Given the description of an element on the screen output the (x, y) to click on. 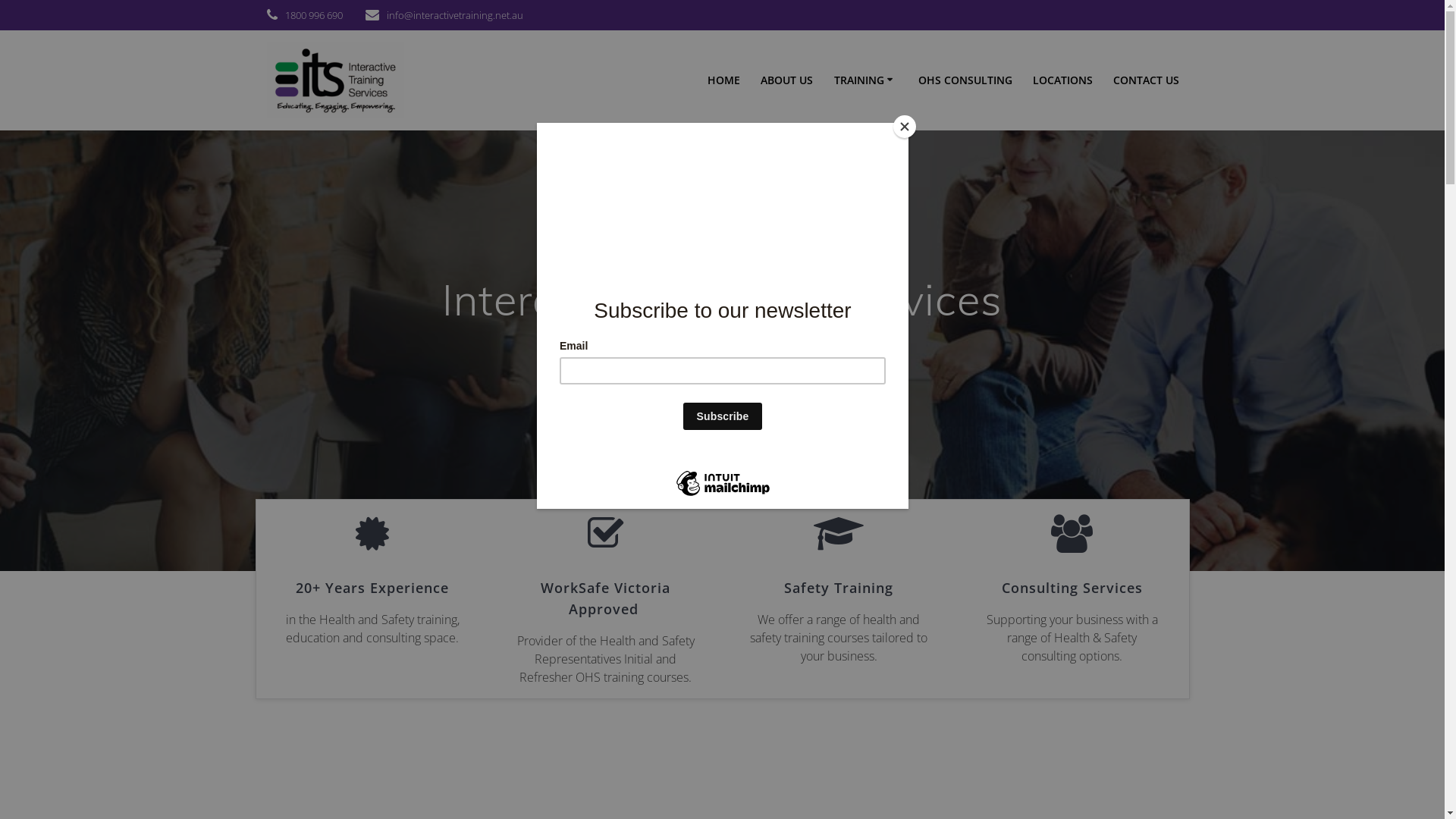
ABOUT US Element type: text (786, 79)
OHS CONSULTING Element type: text (965, 79)
Contact Us Element type: text (794, 358)
TRAINING Element type: text (865, 79)
HOME Element type: text (723, 79)
Enrol Now Element type: text (650, 358)
1800 996 690 Element type: text (313, 14)
CONTACT US Element type: text (1146, 79)
info@interactivetraining.net.au Element type: text (454, 14)
LOCATIONS Element type: text (1062, 79)
